Given the description of an element on the screen output the (x, y) to click on. 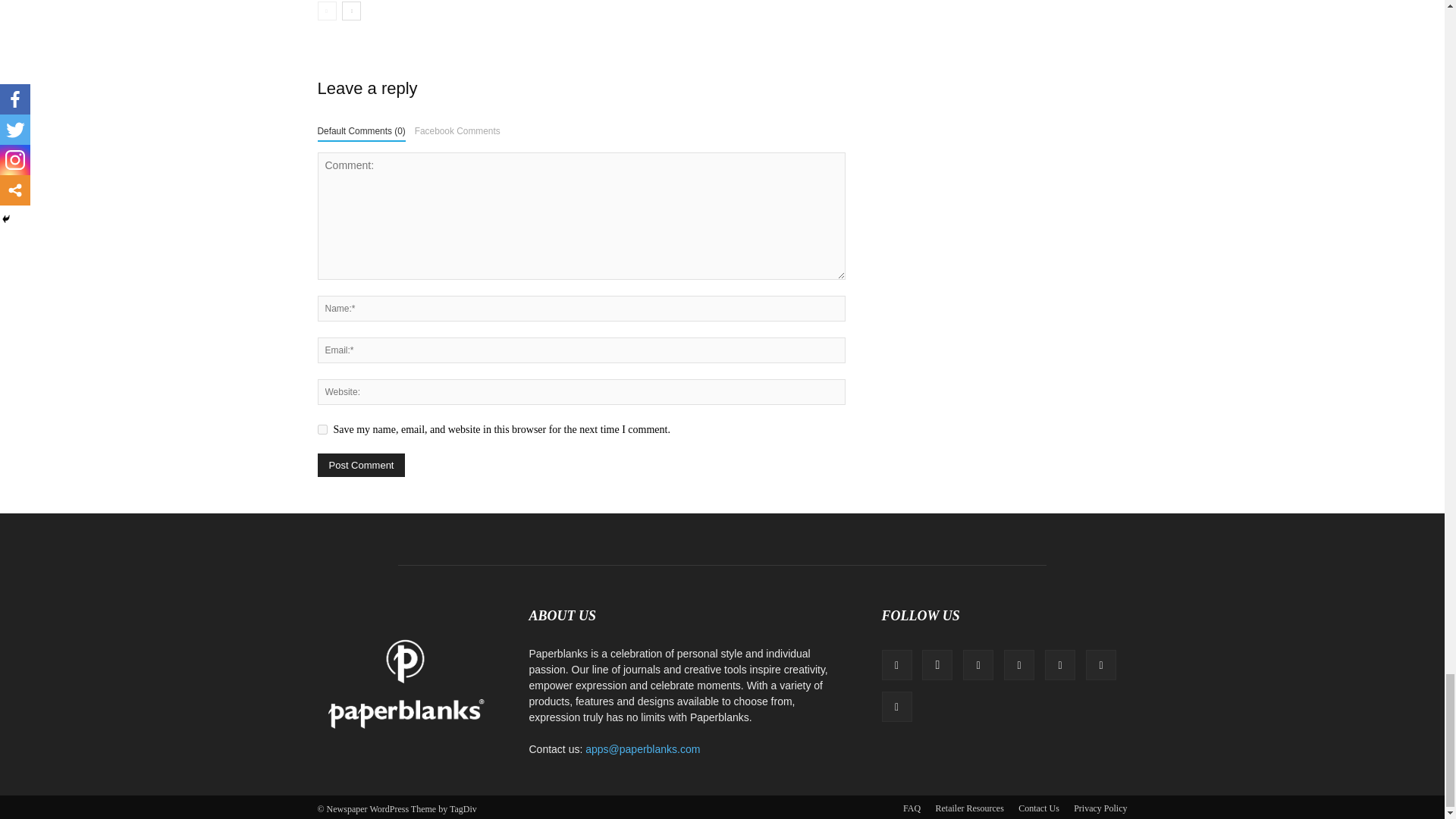
Post Comment (360, 464)
yes (321, 429)
